Given the description of an element on the screen output the (x, y) to click on. 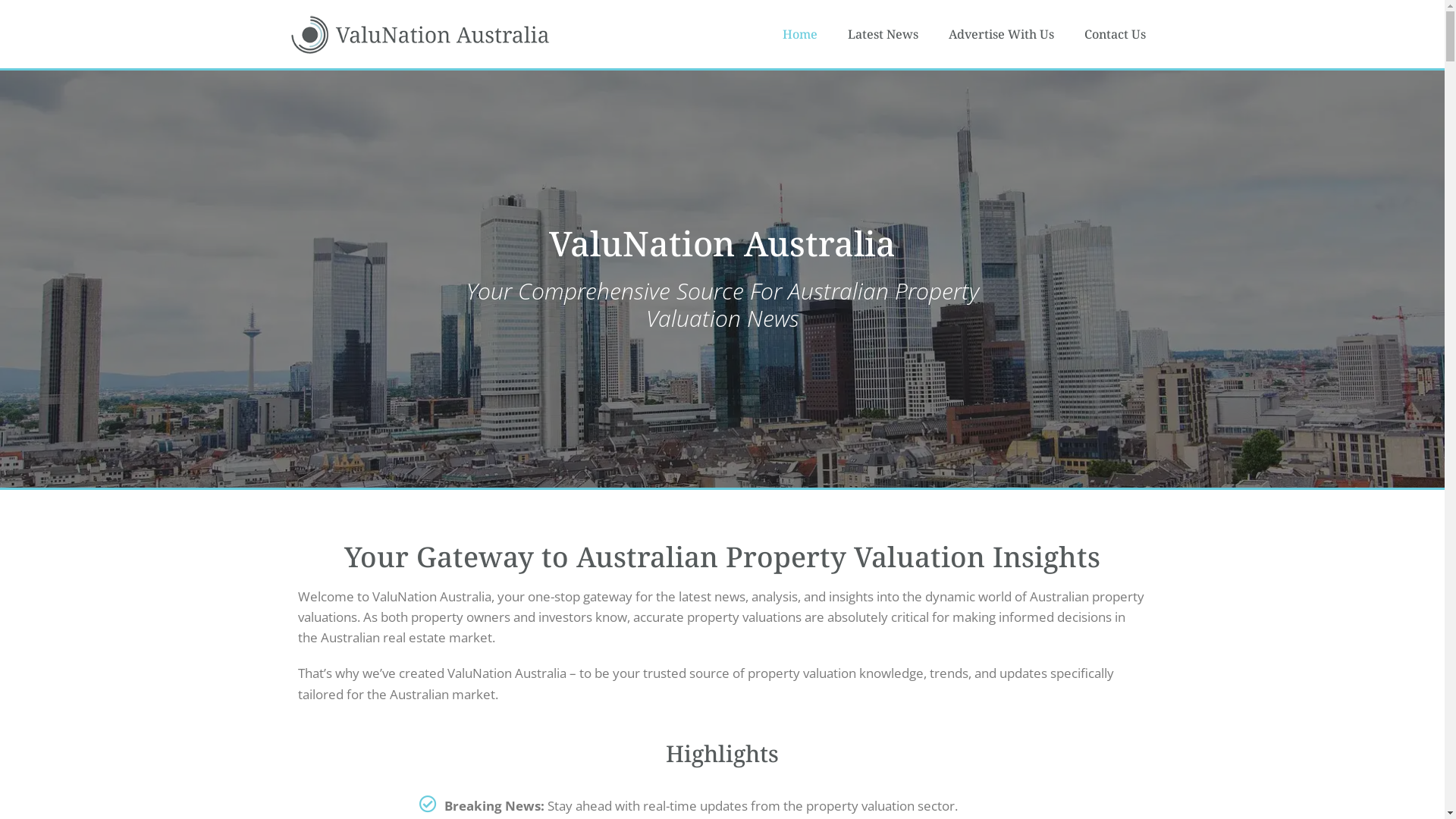
Contact Us Element type: text (1114, 33)
Latest News Element type: text (882, 33)
Advertise With Us Element type: text (1001, 33)
Home Element type: text (800, 33)
